Given the description of an element on the screen output the (x, y) to click on. 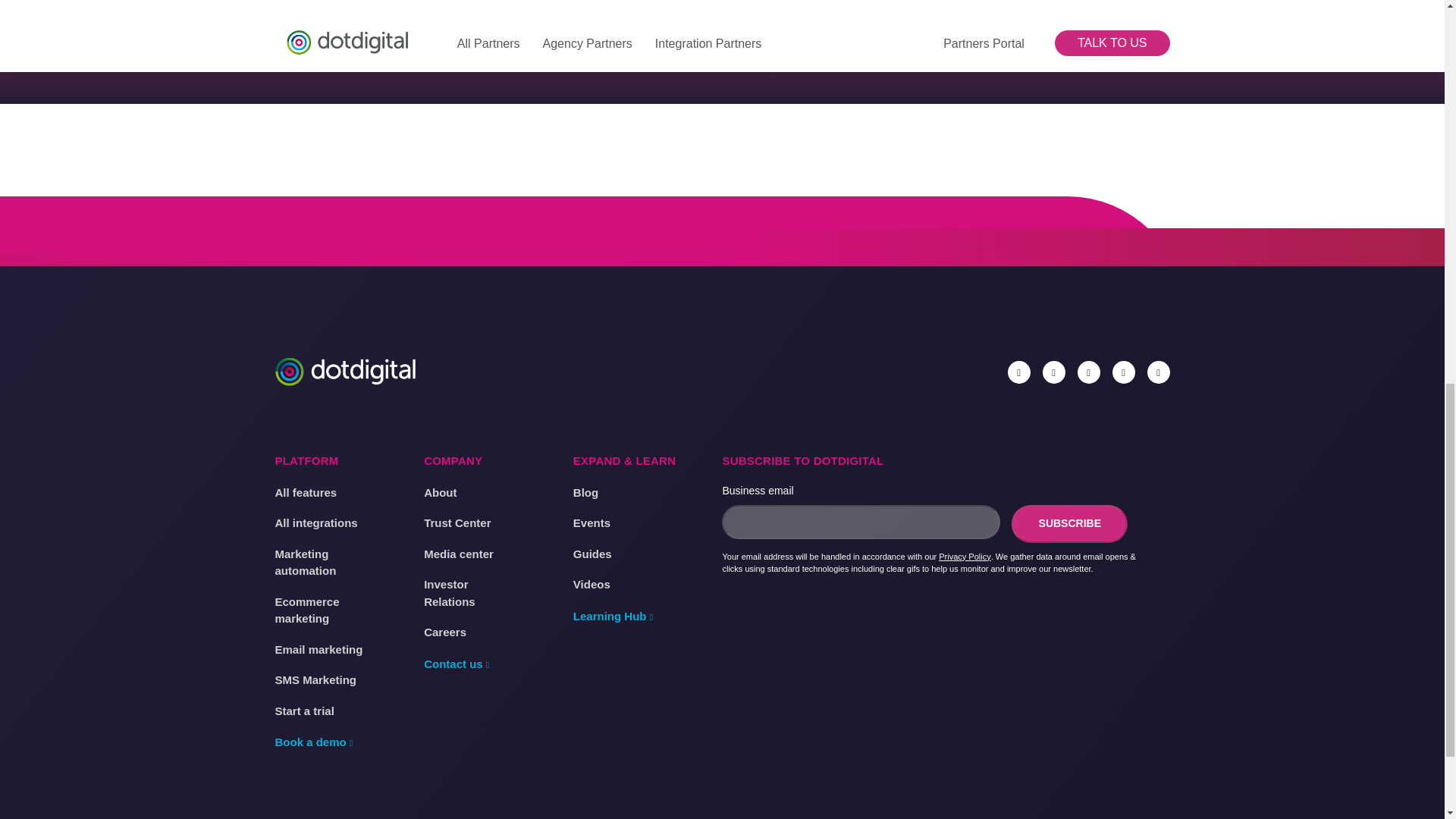
Email marketing (318, 650)
Videos (591, 584)
Book a demo (315, 742)
Contact us (458, 664)
Trust Center (456, 523)
About (440, 492)
Guides (592, 554)
Privacy Policy (964, 556)
Terms of Use (504, 818)
Blog (585, 492)
Media center (458, 554)
Investor Relations (467, 593)
Marketing automation (318, 562)
Start a trial (304, 710)
SMS Marketing (315, 680)
